Given the description of an element on the screen output the (x, y) to click on. 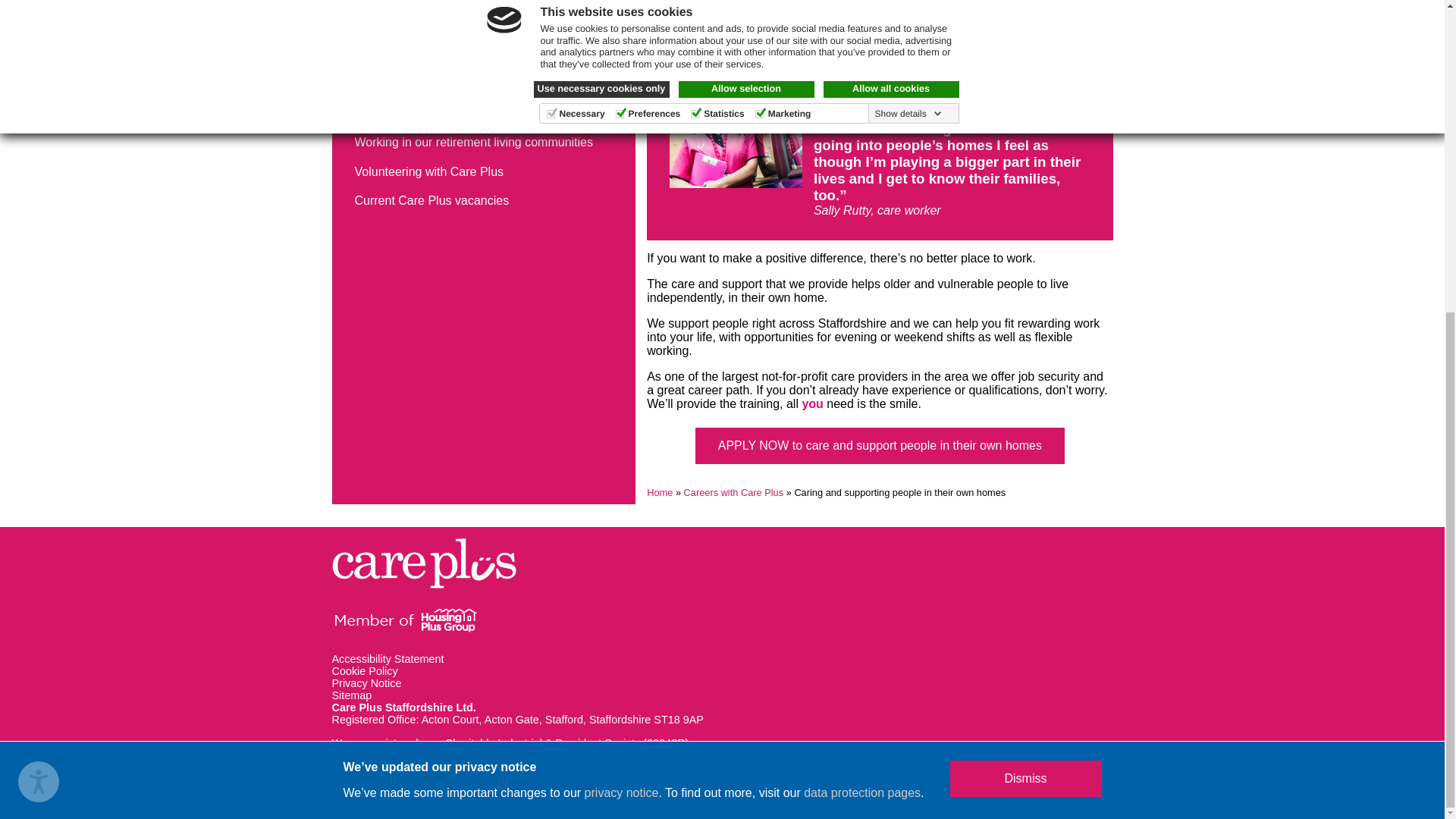
Listen with the ReachDeck Toolbar (38, 283)
